Given the description of an element on the screen output the (x, y) to click on. 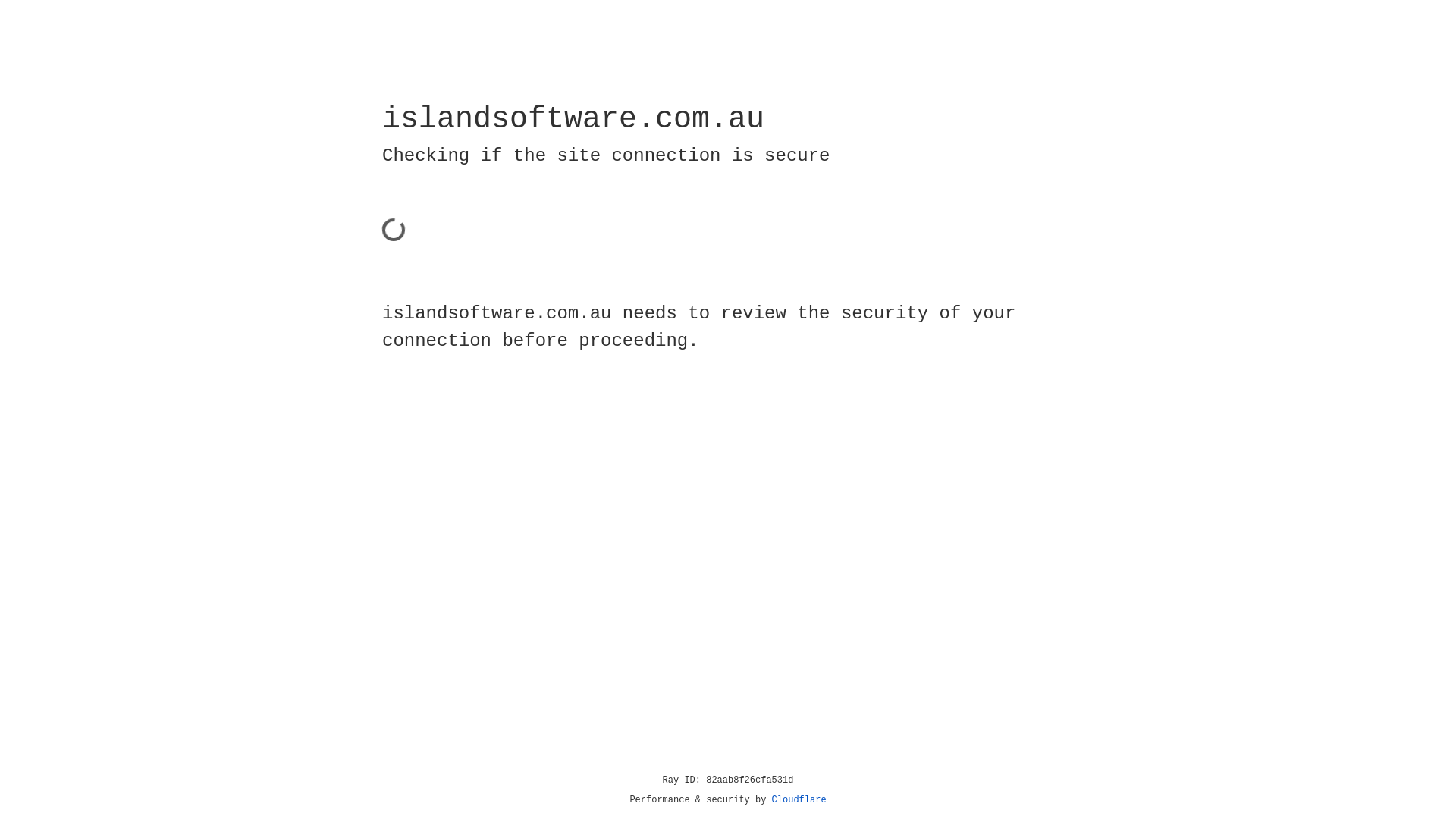
Cloudflare Element type: text (798, 799)
